Given the description of an element on the screen output the (x, y) to click on. 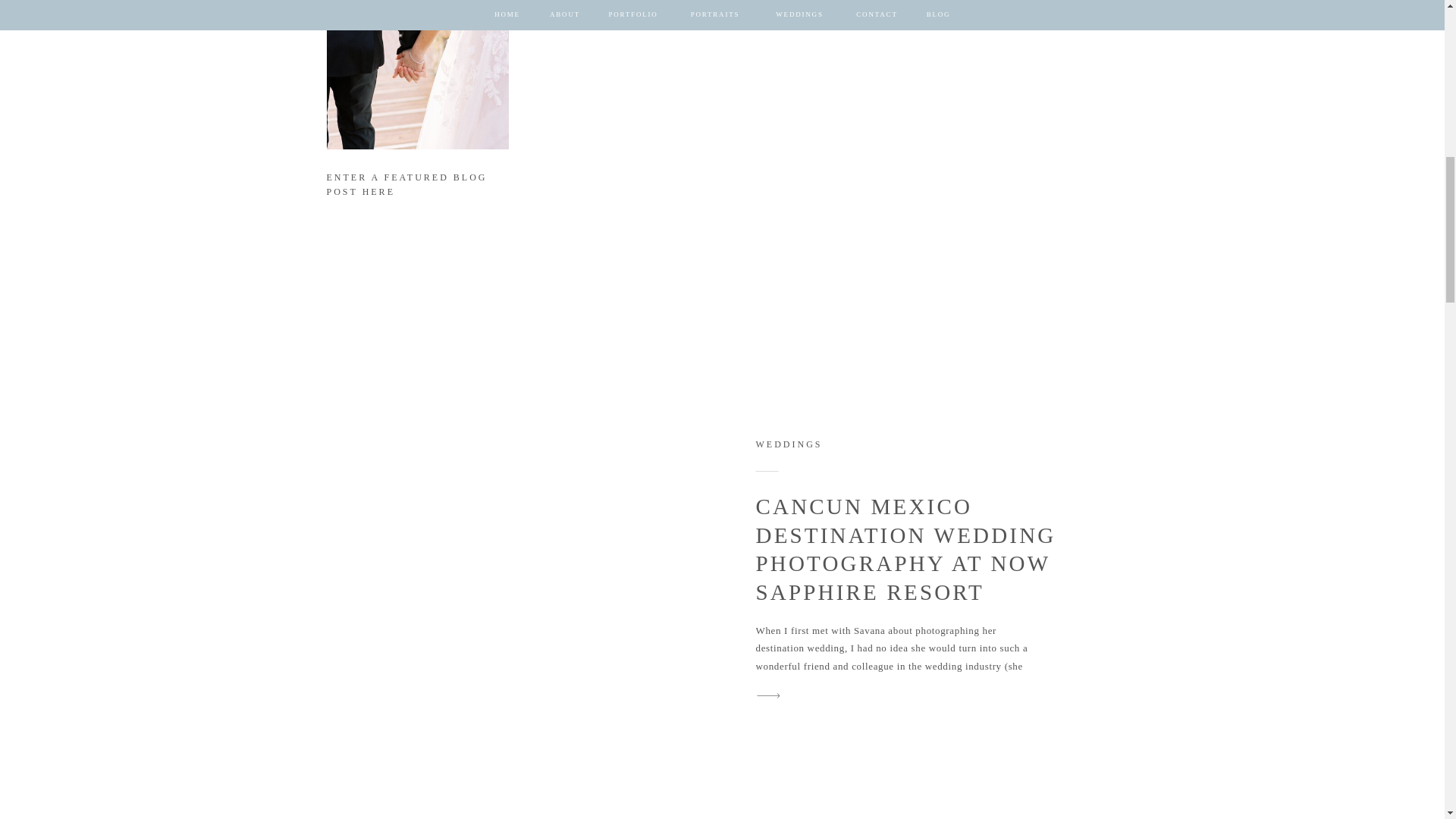
arrow (1104, 200)
ENTER A FEATURED BLOG POST HERE (415, 188)
arrow (768, 695)
